Given the description of an element on the screen output the (x, y) to click on. 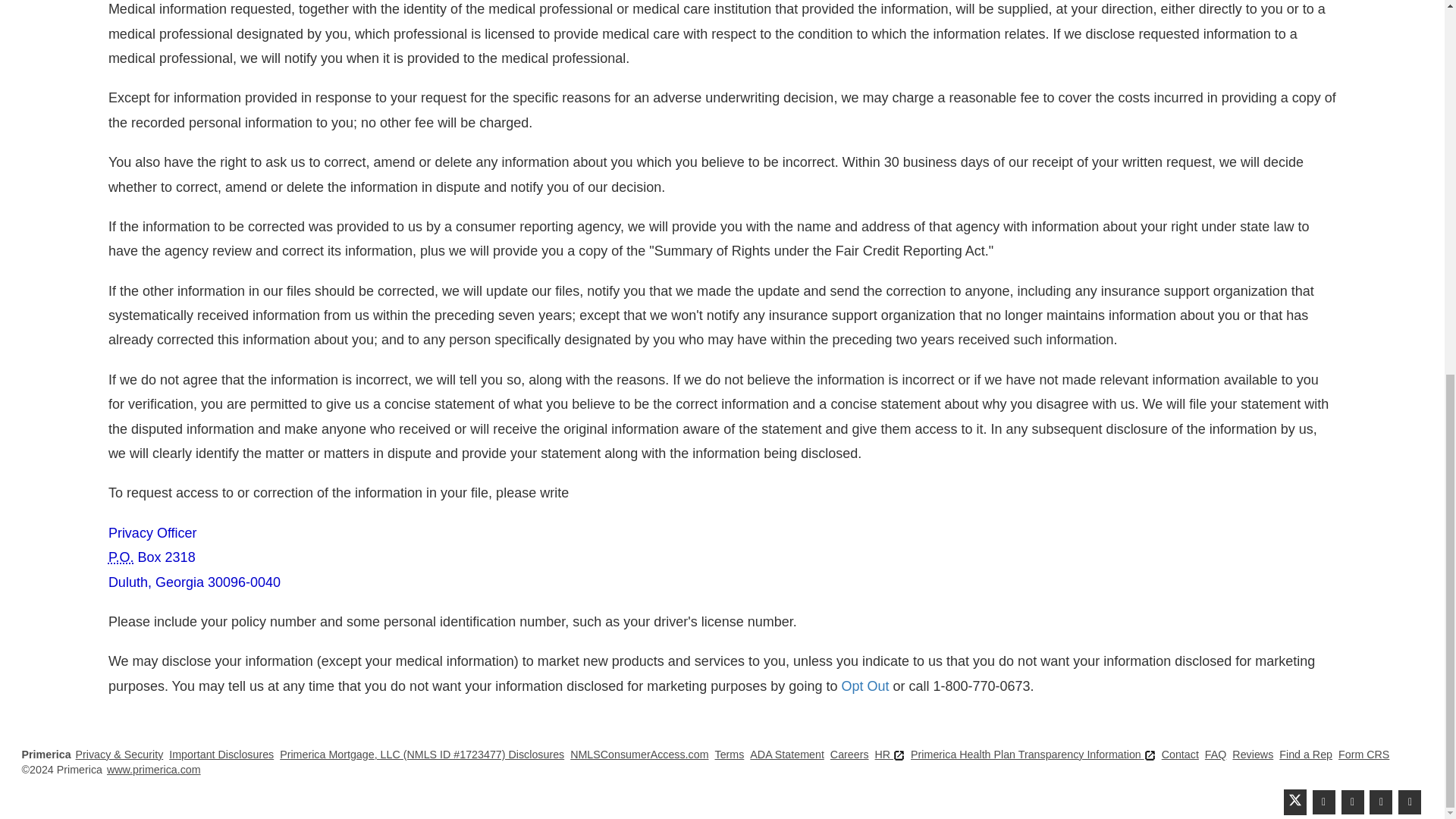
Opt Out Request Form (864, 685)
Post Office (120, 557)
Follow Primerica on Linkedin (1352, 802)
Like Primerica on Facebook (1324, 802)
Subscribe to the Primerica Youtube Channel (1380, 802)
Follow Primerica on Instagram (1409, 802)
